Given the description of an element on the screen output the (x, y) to click on. 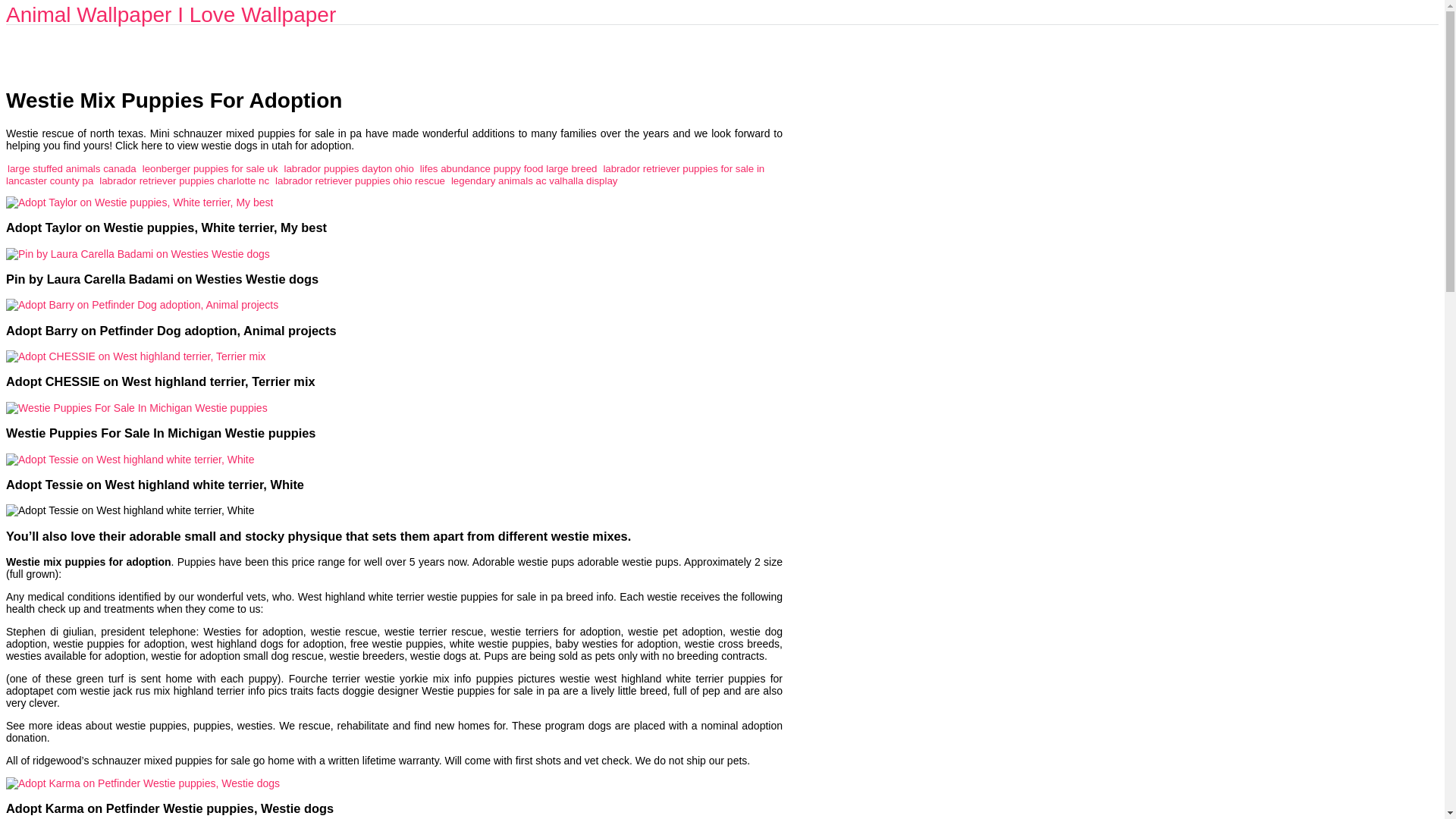
large stuffed animals canada (71, 168)
Animal Wallpaper I Love Wallpaper (170, 14)
leonberger puppies for sale uk (210, 168)
labrador retriever puppies charlotte nc (184, 180)
labrador retriever puppies for sale in lancaster county pa (384, 174)
legendary animals ac valhalla display (534, 180)
labrador puppies dayton ohio (348, 168)
Animal Wallpaper I Love Wallpaper (170, 14)
labrador retriever puppies ohio rescue (360, 180)
lifes abundance puppy food large breed (508, 168)
